Given the description of an element on the screen output the (x, y) to click on. 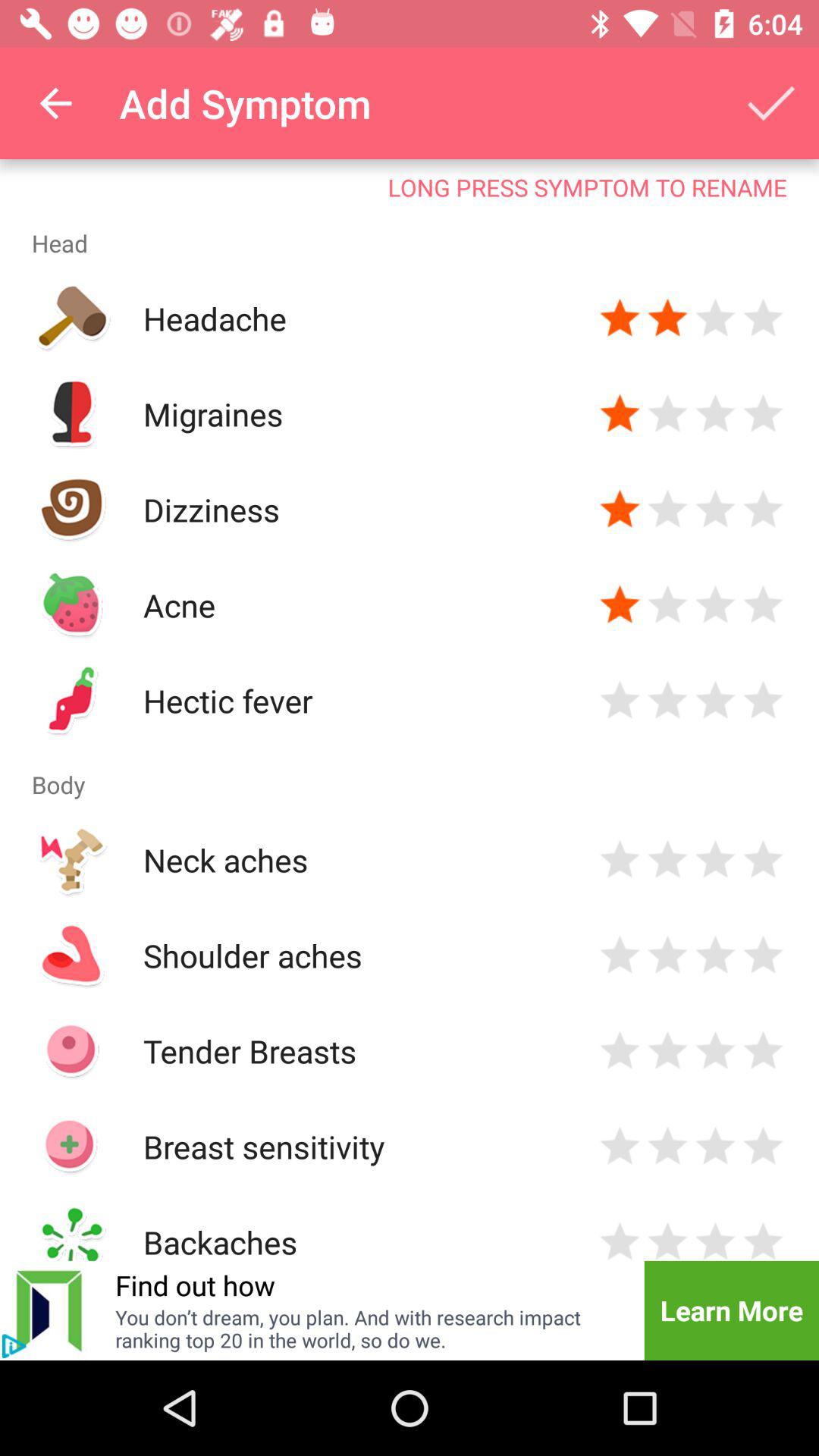
rate 3 stars (715, 413)
